Given the description of an element on the screen output the (x, y) to click on. 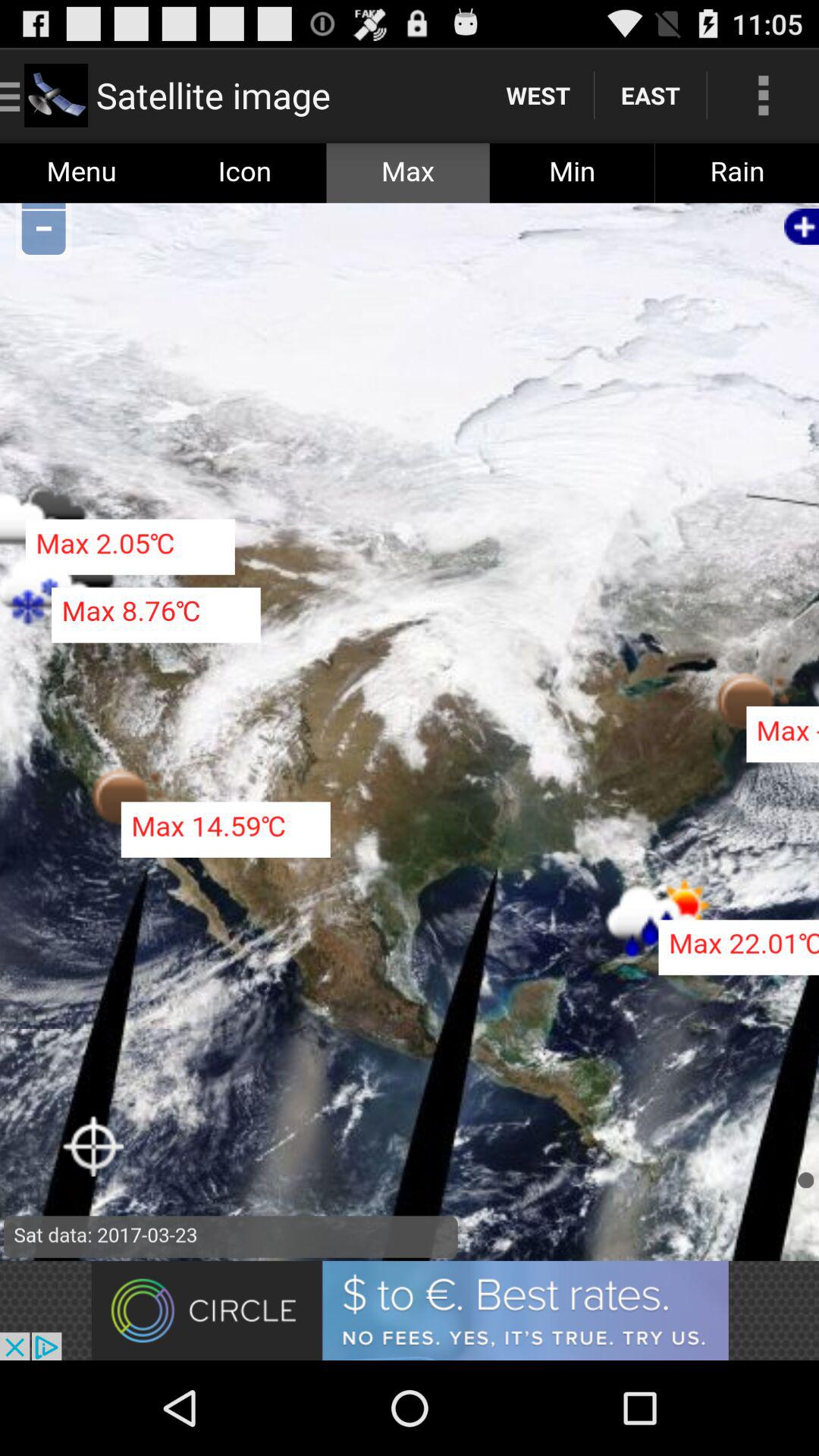
showing advertisement (409, 1310)
